Given the description of an element on the screen output the (x, y) to click on. 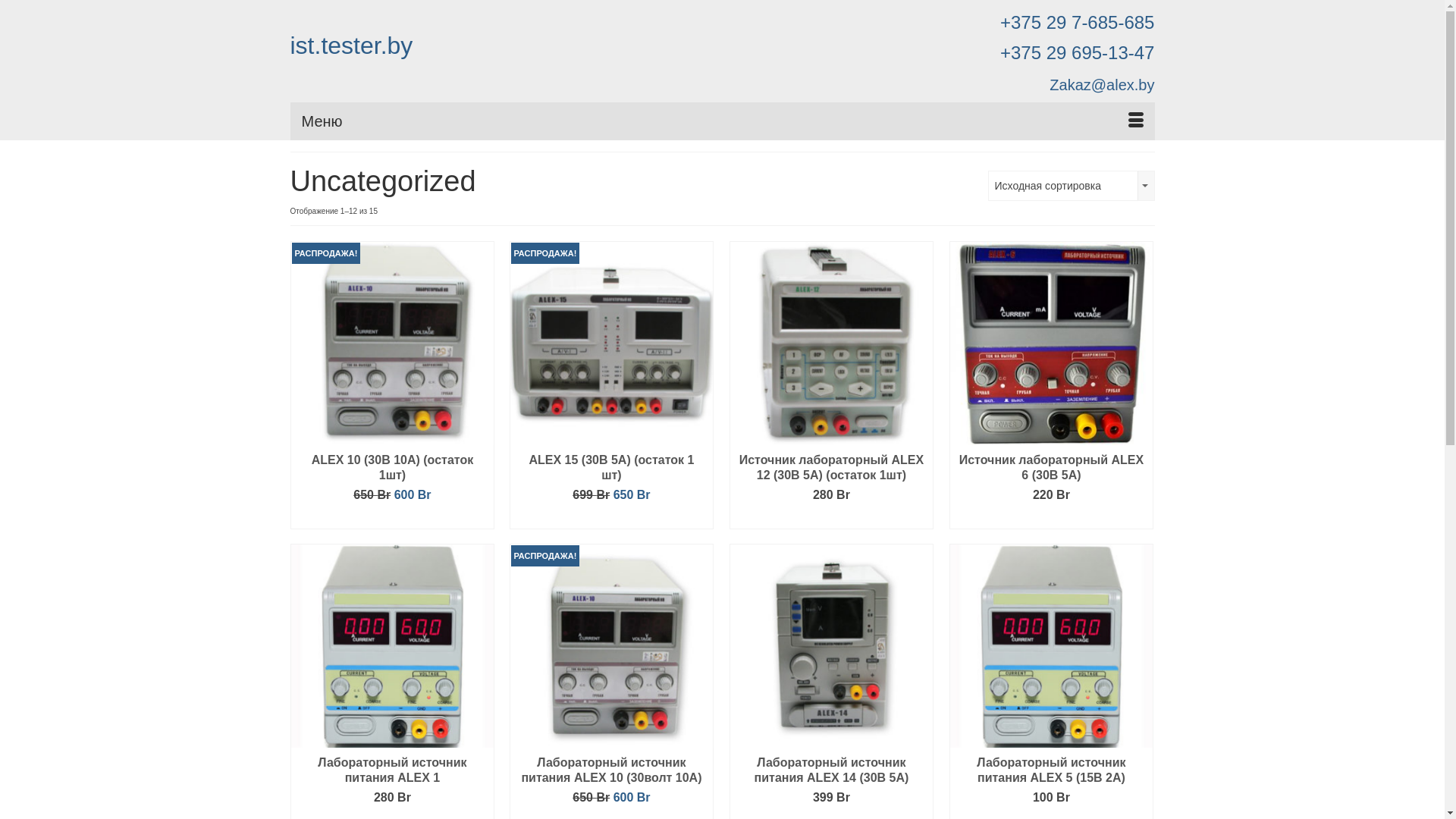
+375 29 7-685-685 Element type: text (1077, 22)
+375 29 695-13-47 Element type: text (1077, 52)
ist.tester.by Element type: text (350, 45)
Zakaz@alex.by Element type: text (1101, 84)
